Given the description of an element on the screen output the (x, y) to click on. 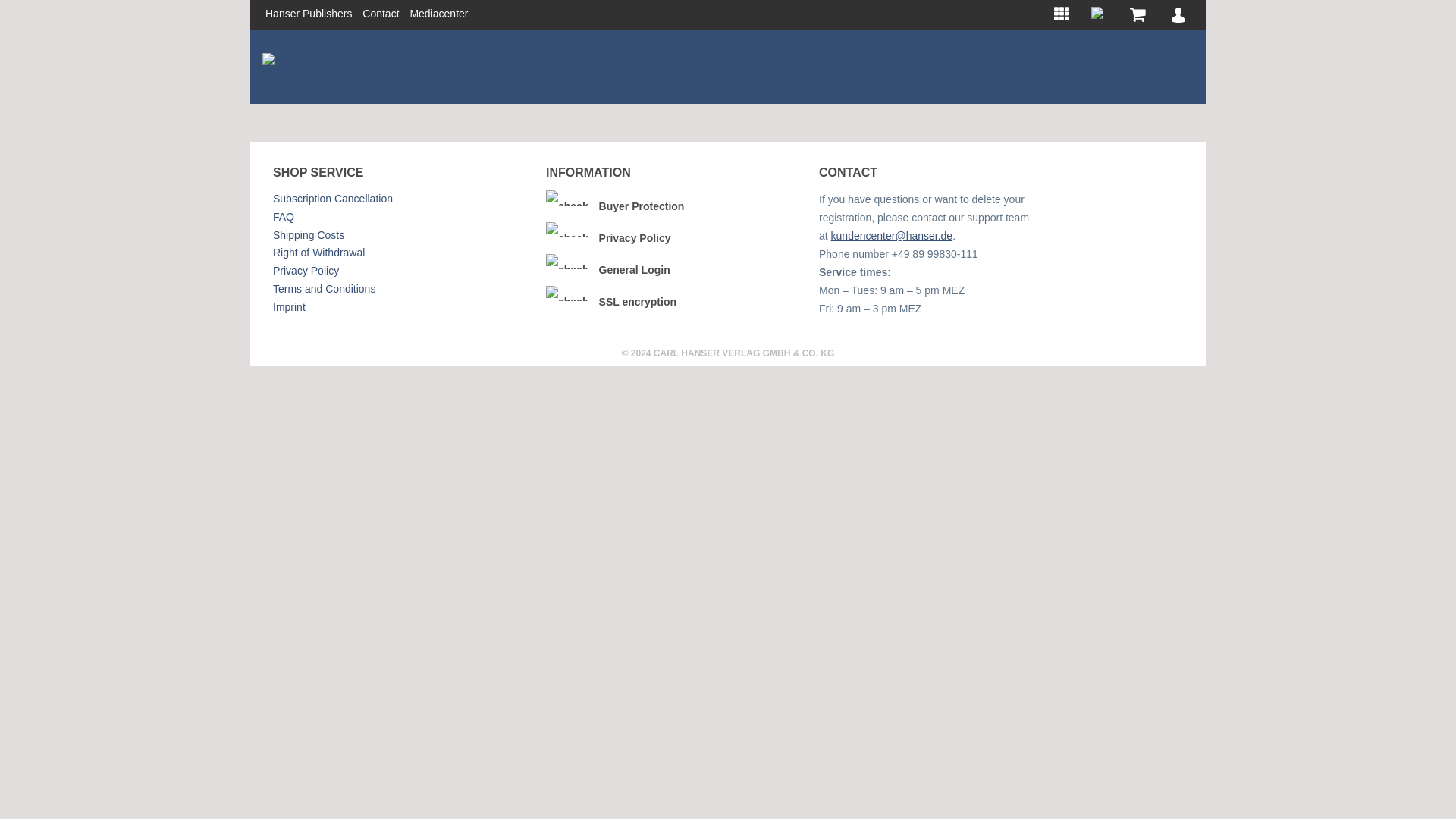
Cart Created with Sketch. (1138, 14)
Created with Sketch. (1177, 15)
Shopping cart (1133, 15)
 To use bookmarks please login (1096, 15)
HANSER Product Range (1061, 10)
Cart Created with Sketch. (1133, 15)
Contact (380, 13)
Mediacenter (438, 13)
Hanser Publishers (308, 13)
Account (1177, 15)
